Given the description of an element on the screen output the (x, y) to click on. 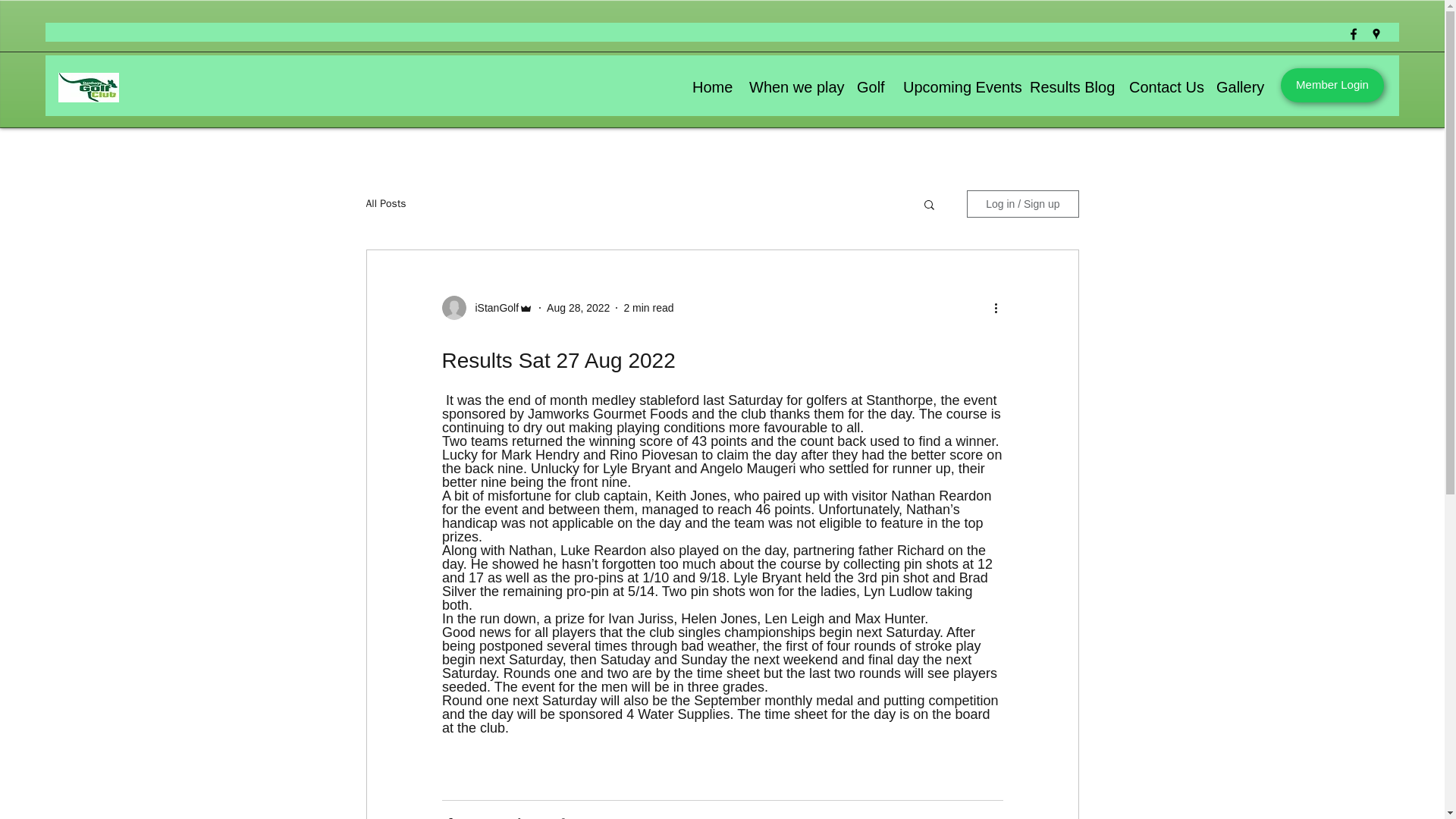
Aug 28, 2022 (578, 307)
Gallery (1237, 87)
Results Blog (1067, 87)
Contact Us (1161, 87)
Upcoming Events (954, 87)
When we play (791, 87)
Member Login (1332, 84)
2 min read (647, 307)
Home (709, 87)
All Posts (385, 203)
Golf (868, 87)
iStanGolf (491, 308)
